Given the description of an element on the screen output the (x, y) to click on. 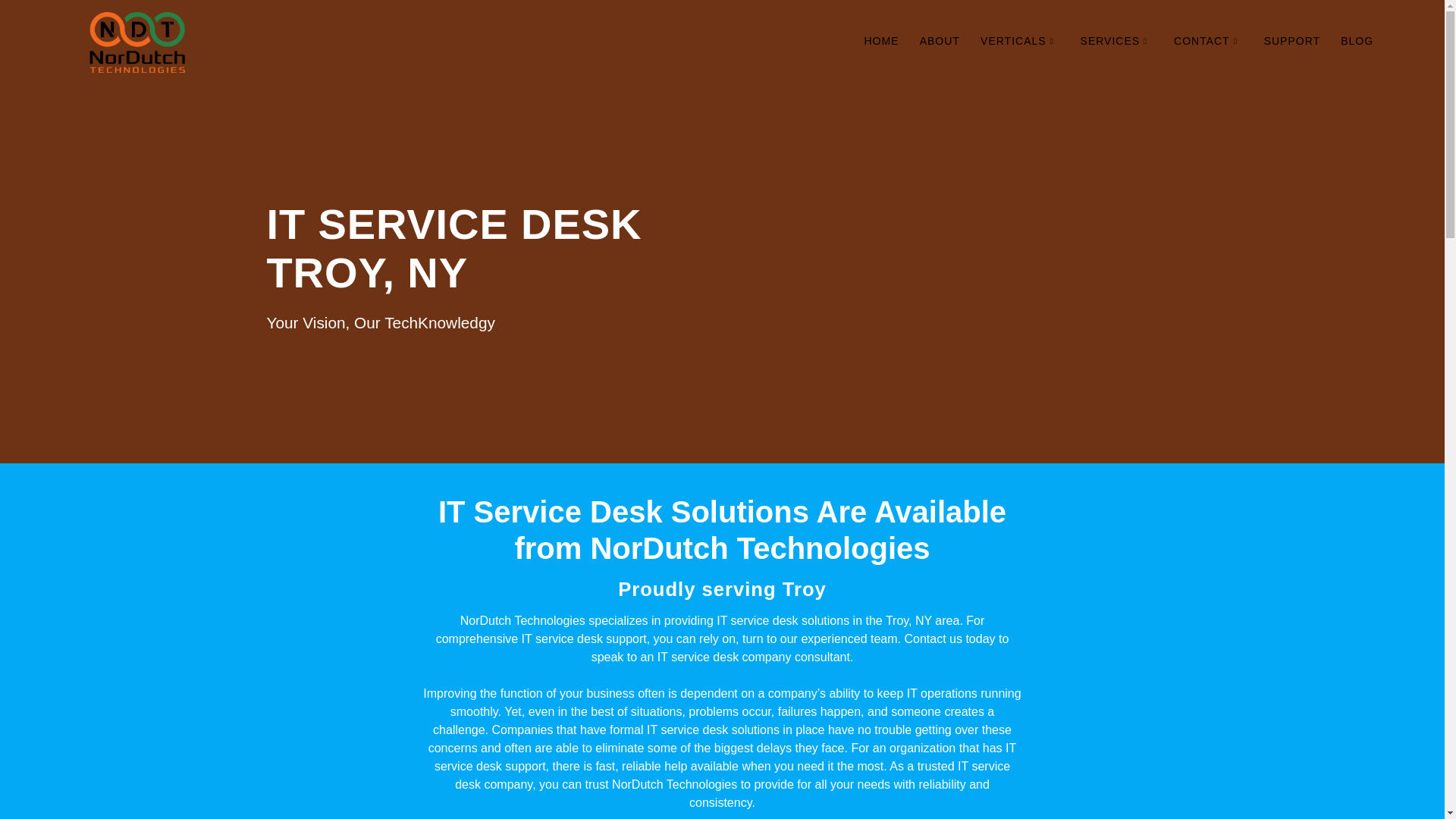
VERTICALS (1019, 41)
HOME (880, 41)
BLOG (1356, 41)
SUPPORT (1291, 41)
SERVICES (1116, 41)
CONTACT (1208, 41)
ABOUT (939, 41)
